Given the description of an element on the screen output the (x, y) to click on. 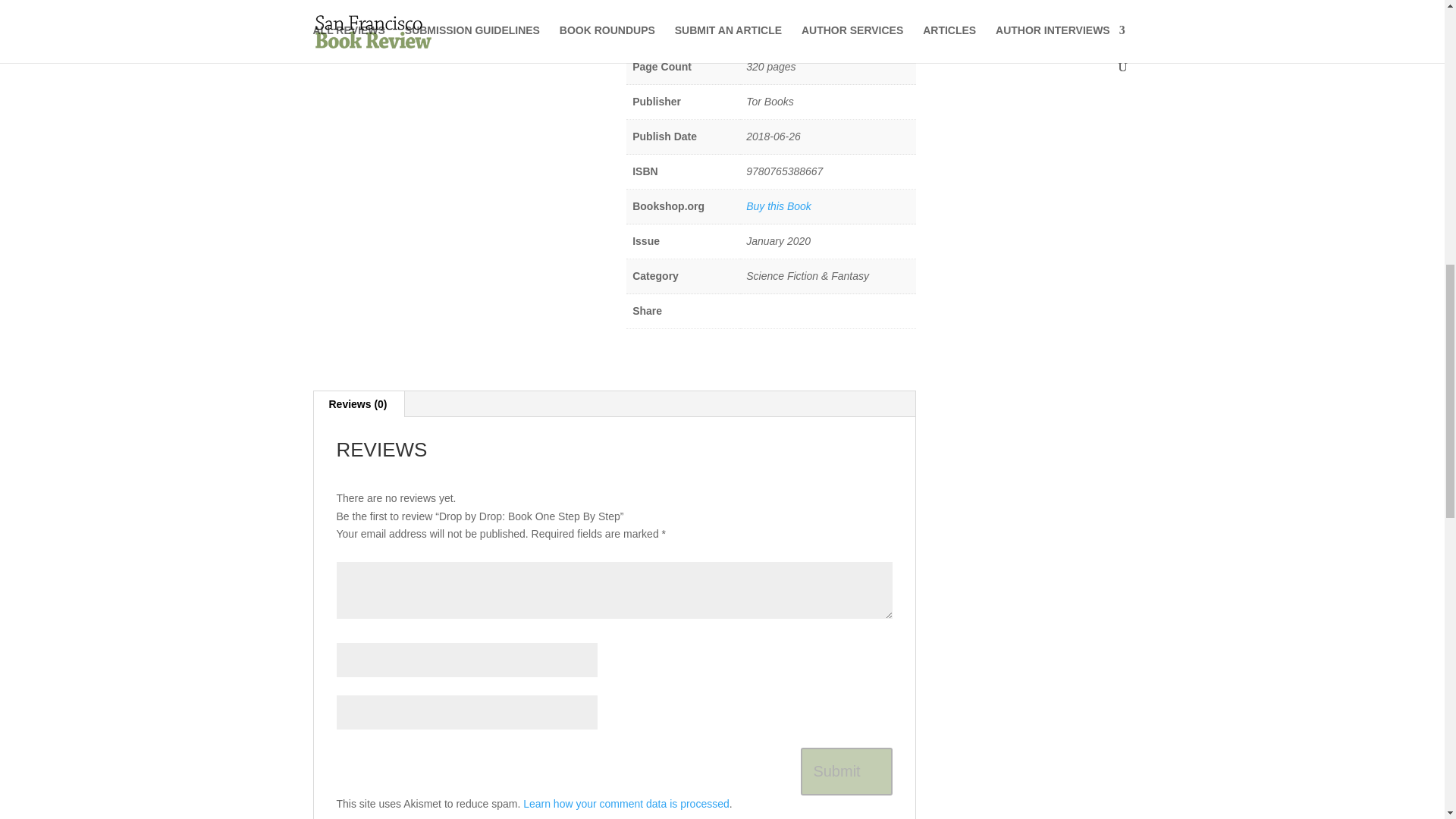
Buy this Book (777, 205)
Learn how your comment data is processed (625, 803)
Submit (845, 771)
Submit (845, 771)
